Given the description of an element on the screen output the (x, y) to click on. 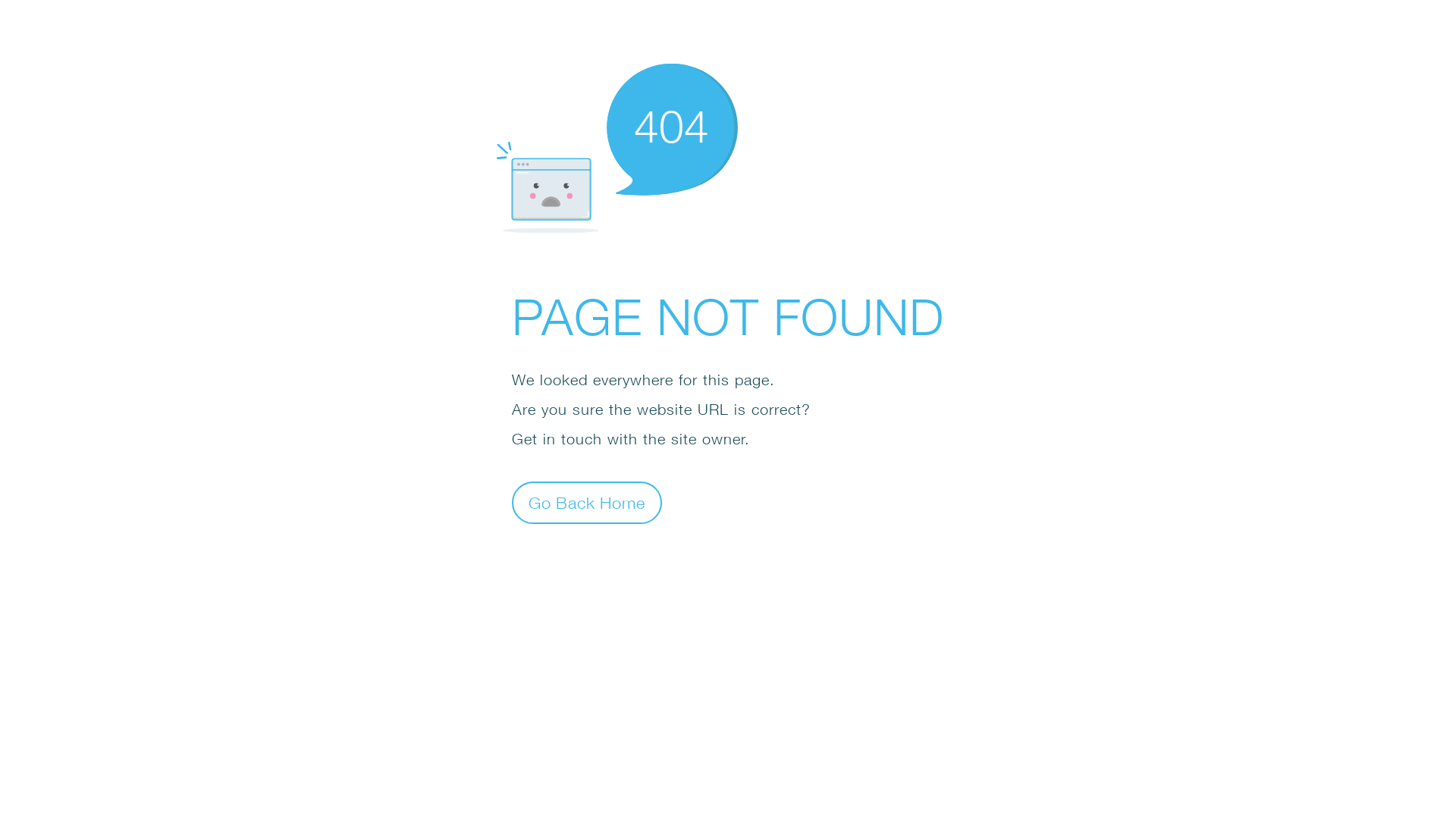
Go Back Home Element type: text (586, 502)
